Given the description of an element on the screen output the (x, y) to click on. 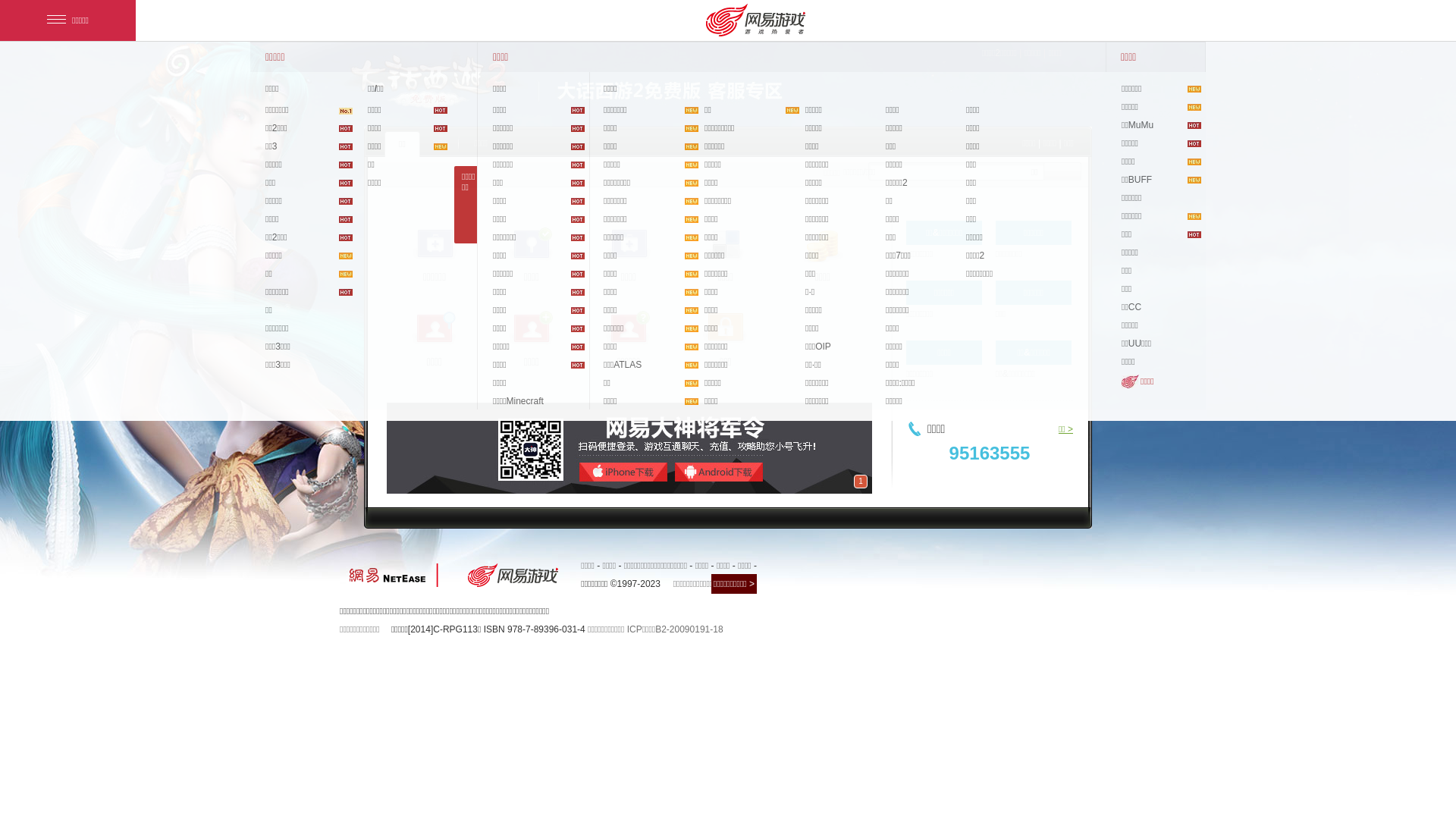
1 Element type: text (860, 481)
